Given the description of an element on the screen output the (x, y) to click on. 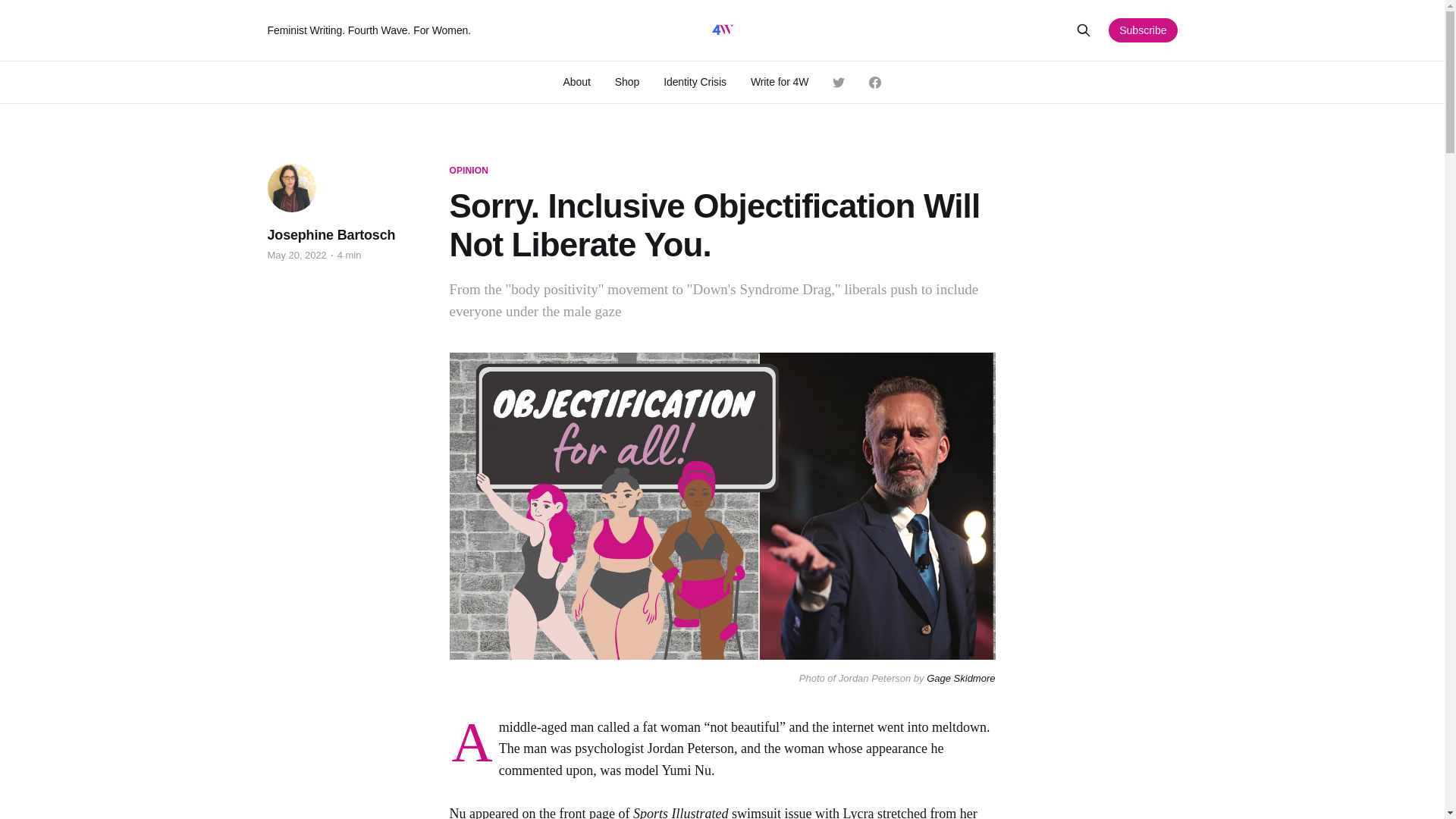
OPINION (467, 170)
Identity Crisis (694, 81)
About (577, 81)
Shop (626, 81)
Subscribe (1142, 30)
Write for 4W (780, 81)
Feminist Writing. Fourth Wave. For Women. (475, 30)
Gage Skidmore (960, 677)
Josephine Bartosch (330, 234)
